Given the description of an element on the screen output the (x, y) to click on. 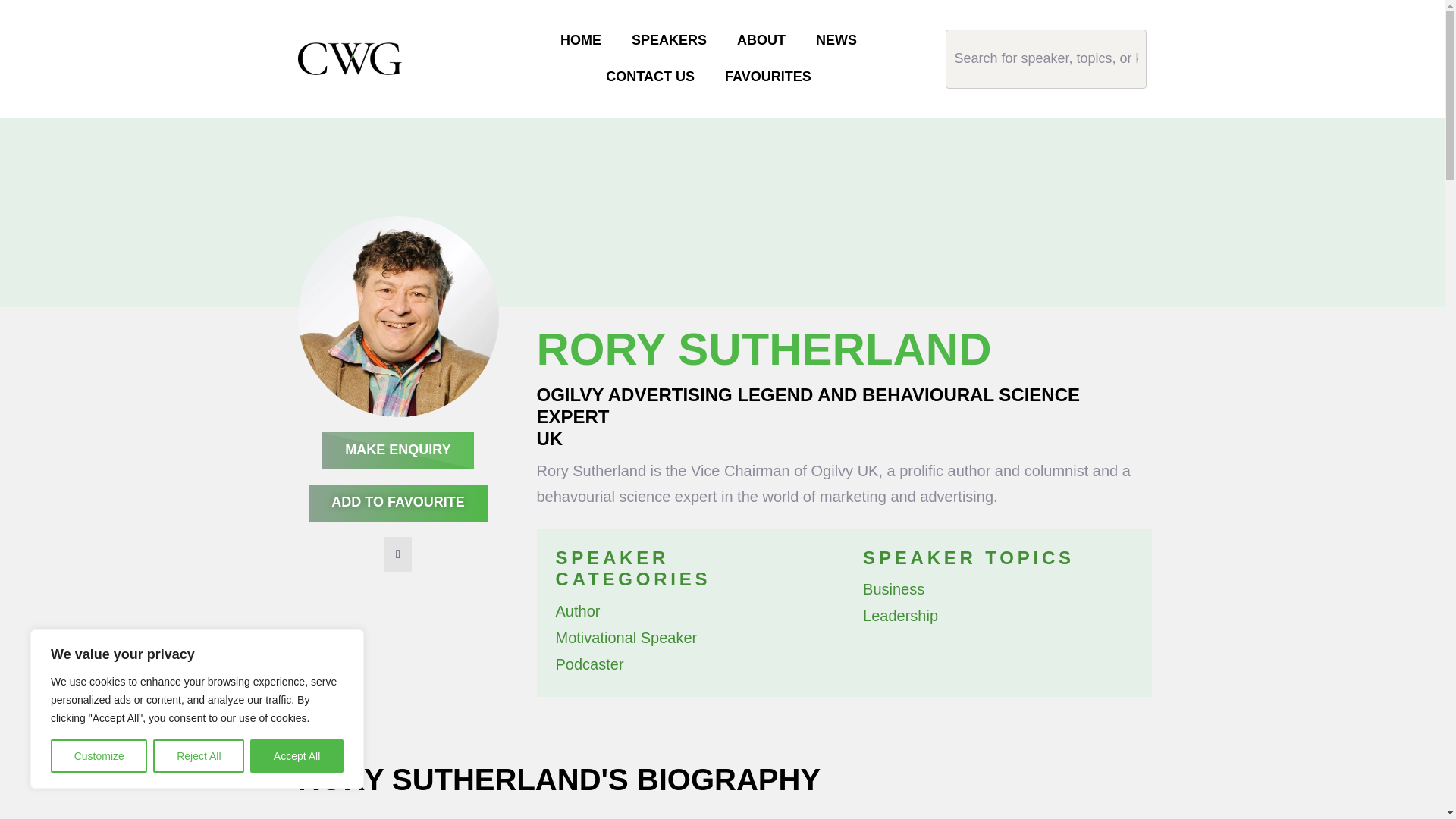
ABOUT (761, 40)
Reject All (198, 756)
Accept All (296, 756)
HOME (579, 40)
CONTACT US (650, 76)
SPEAKERS (668, 40)
Customize (98, 756)
NEWS (836, 40)
FAVOURITES (768, 76)
